Given the description of an element on the screen output the (x, y) to click on. 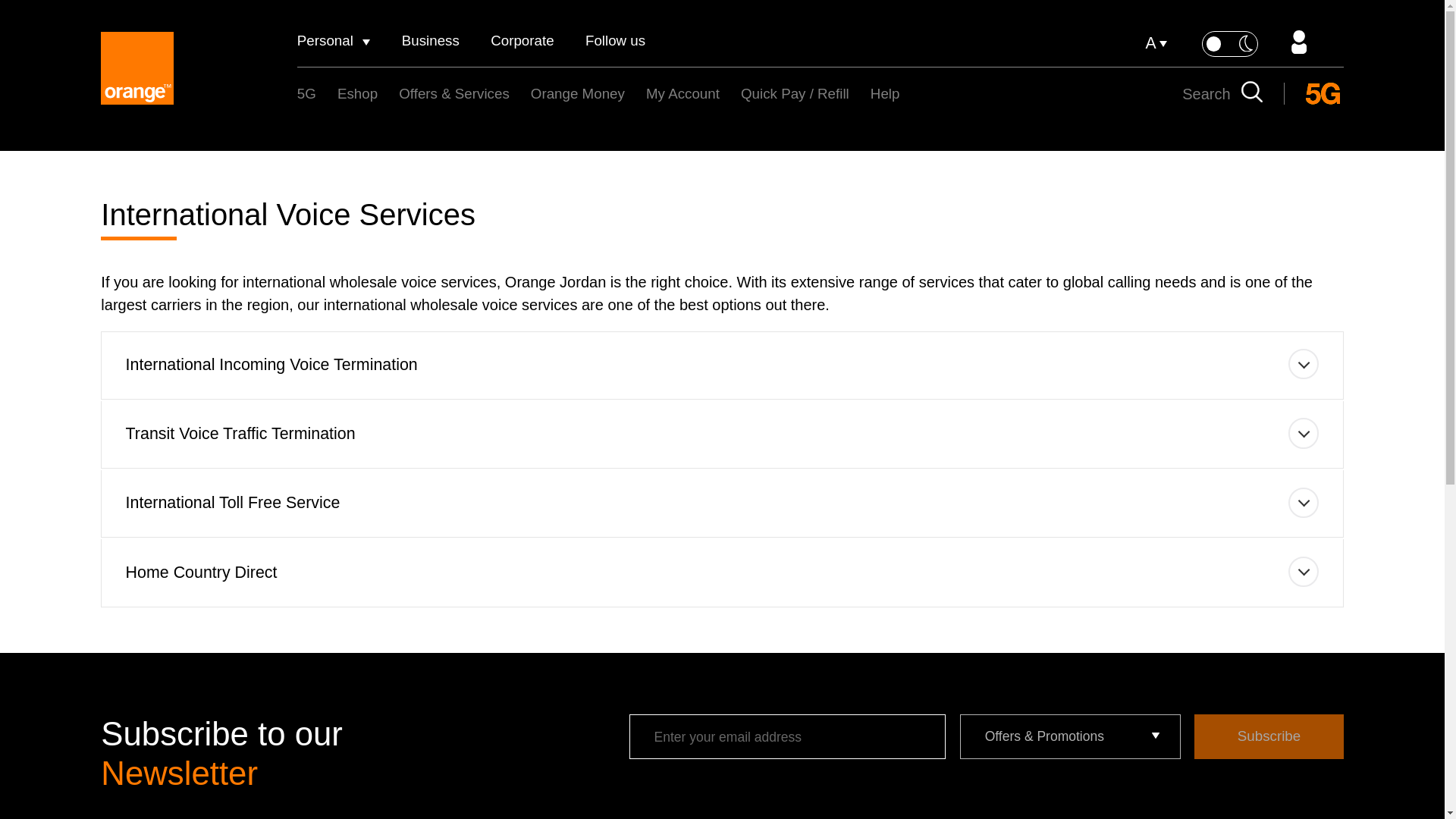
Eshop (357, 93)
Personal (334, 40)
A (1155, 44)
Change font size (1155, 44)
Follow us (615, 40)
Corporate (521, 40)
Business (430, 40)
